Given the description of an element on the screen output the (x, y) to click on. 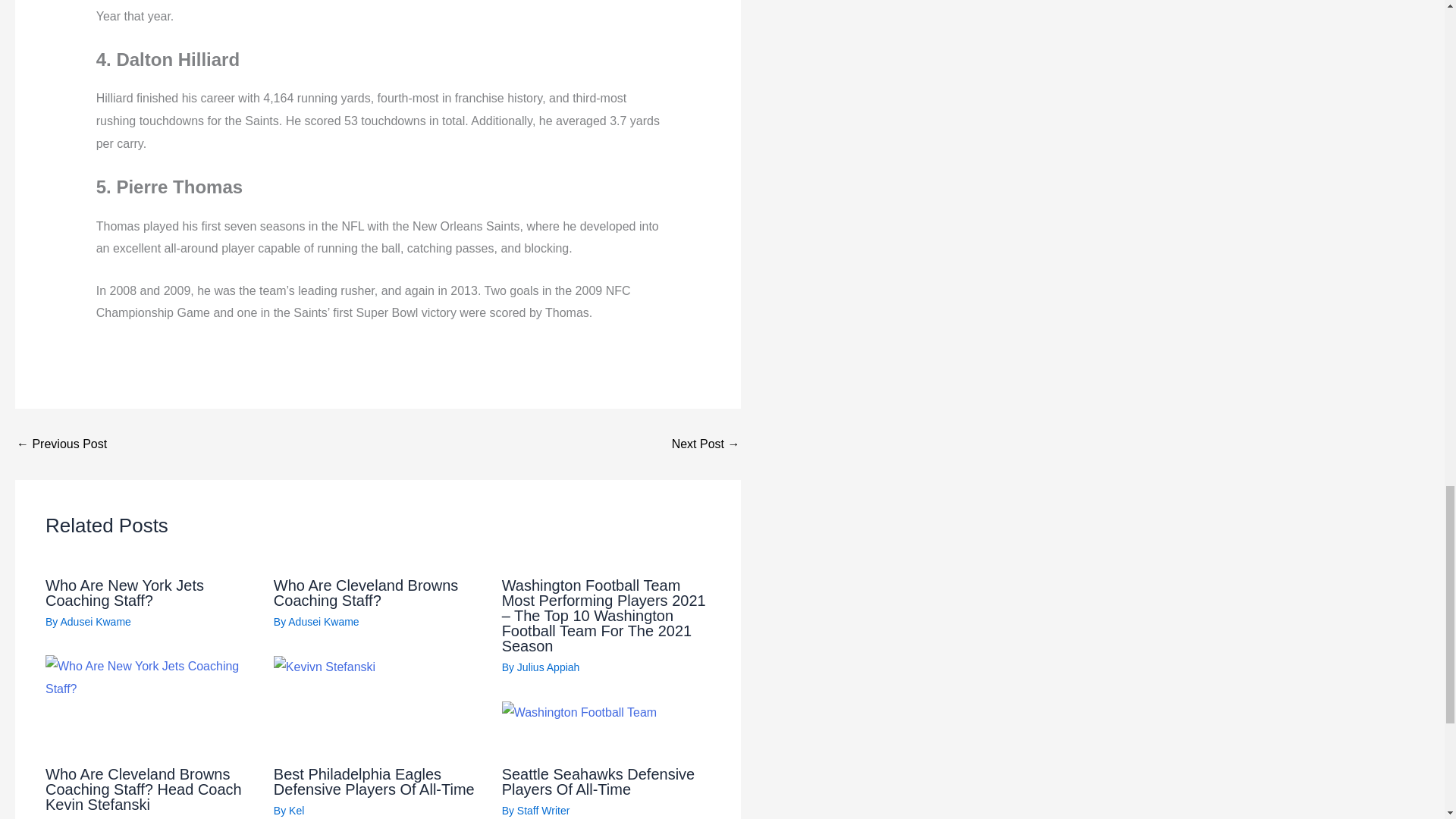
View all posts by Kel (296, 810)
View all posts by Adusei Kwame (323, 621)
View all posts by Adusei Kwame (95, 621)
View all posts by Julius Appiah (547, 666)
View all posts by Staff Writer (543, 810)
What is Terrell Lewis's height? How tall is Terrell Lewis? (705, 444)
